Given the description of an element on the screen output the (x, y) to click on. 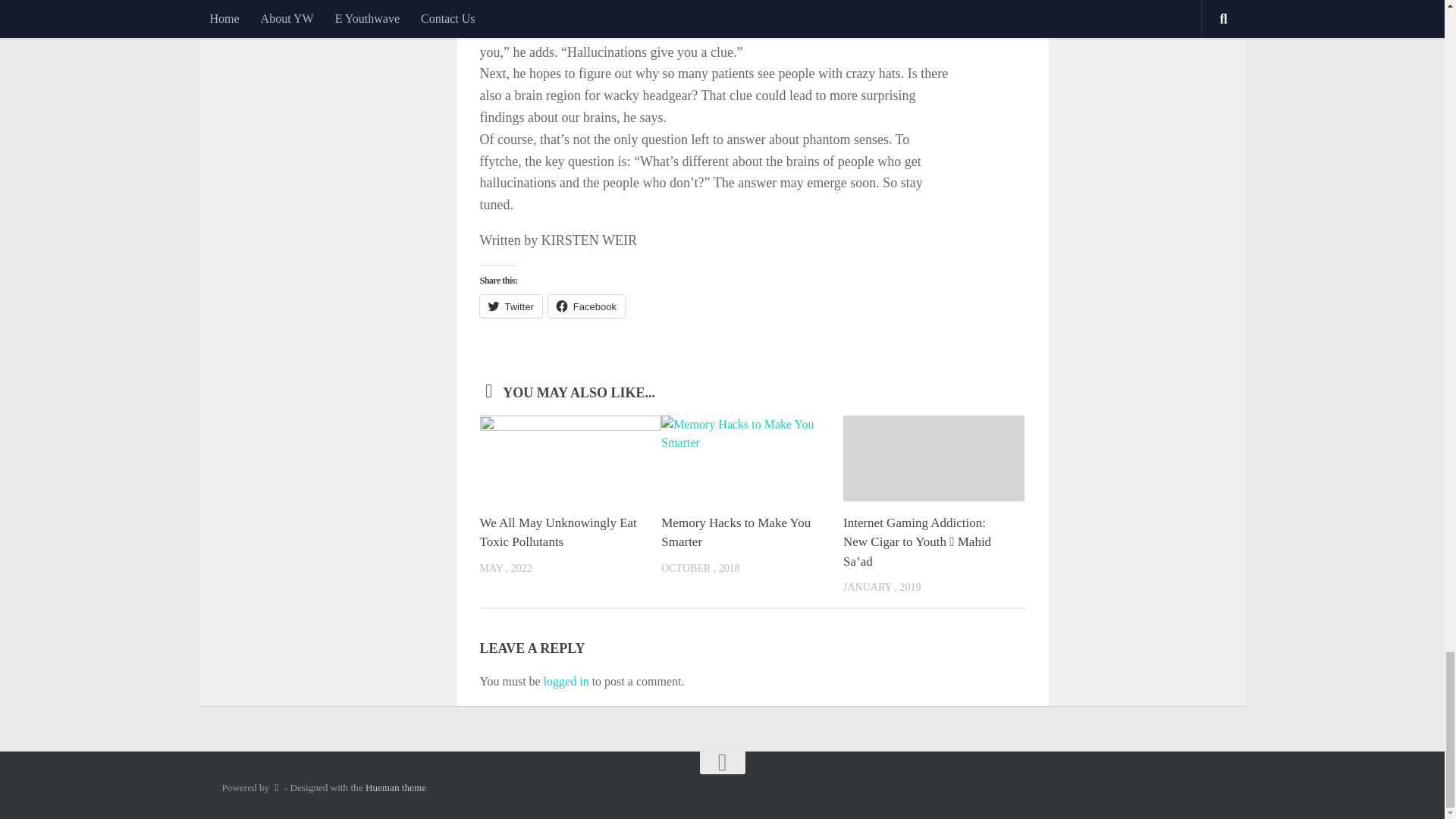
Click to share on Facebook (586, 305)
Click to share on Twitter (510, 305)
